Given the description of an element on the screen output the (x, y) to click on. 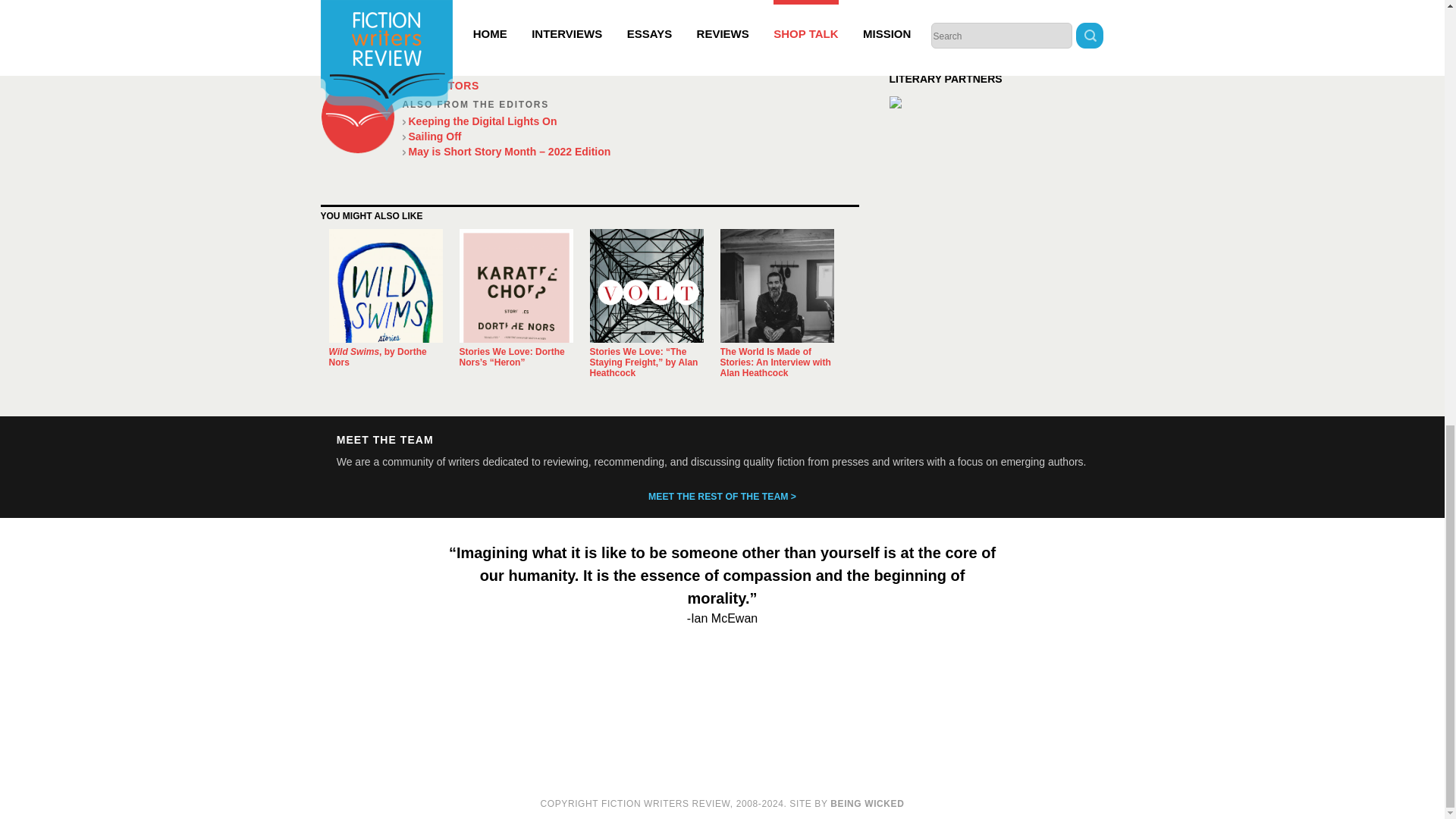
Keeping the Digital Lights On (630, 120)
Wild Swims, by Dorthe Nors (377, 356)
Save (1097, 12)
Share on Facebook (1021, 12)
book of the week (369, 4)
THE EDITORS (440, 85)
Wild Swims, by Dorthe Nors (385, 286)
Sailing Off (630, 136)
Share on Twitter (1059, 12)
graywolf (427, 4)
Wild Swims, by Dorthe Nors (377, 356)
tumbledown (539, 4)
robert boswell (479, 4)
